Given the description of an element on the screen output the (x, y) to click on. 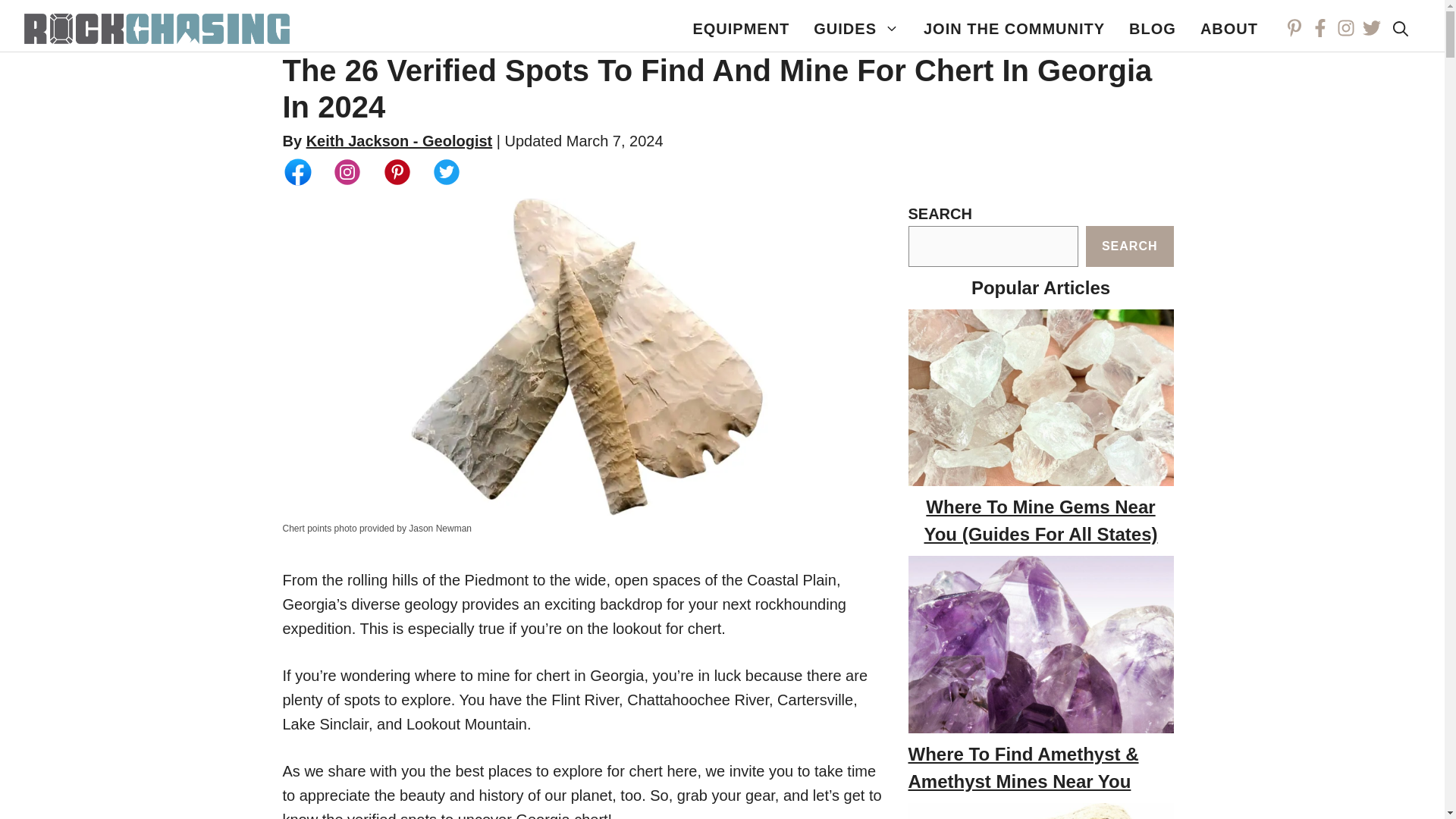
EQUIPMENT (740, 28)
GUIDES (856, 28)
ABOUT (1228, 28)
JOIN THE COMMUNITY (1013, 28)
BLOG (1152, 28)
